Given the description of an element on the screen output the (x, y) to click on. 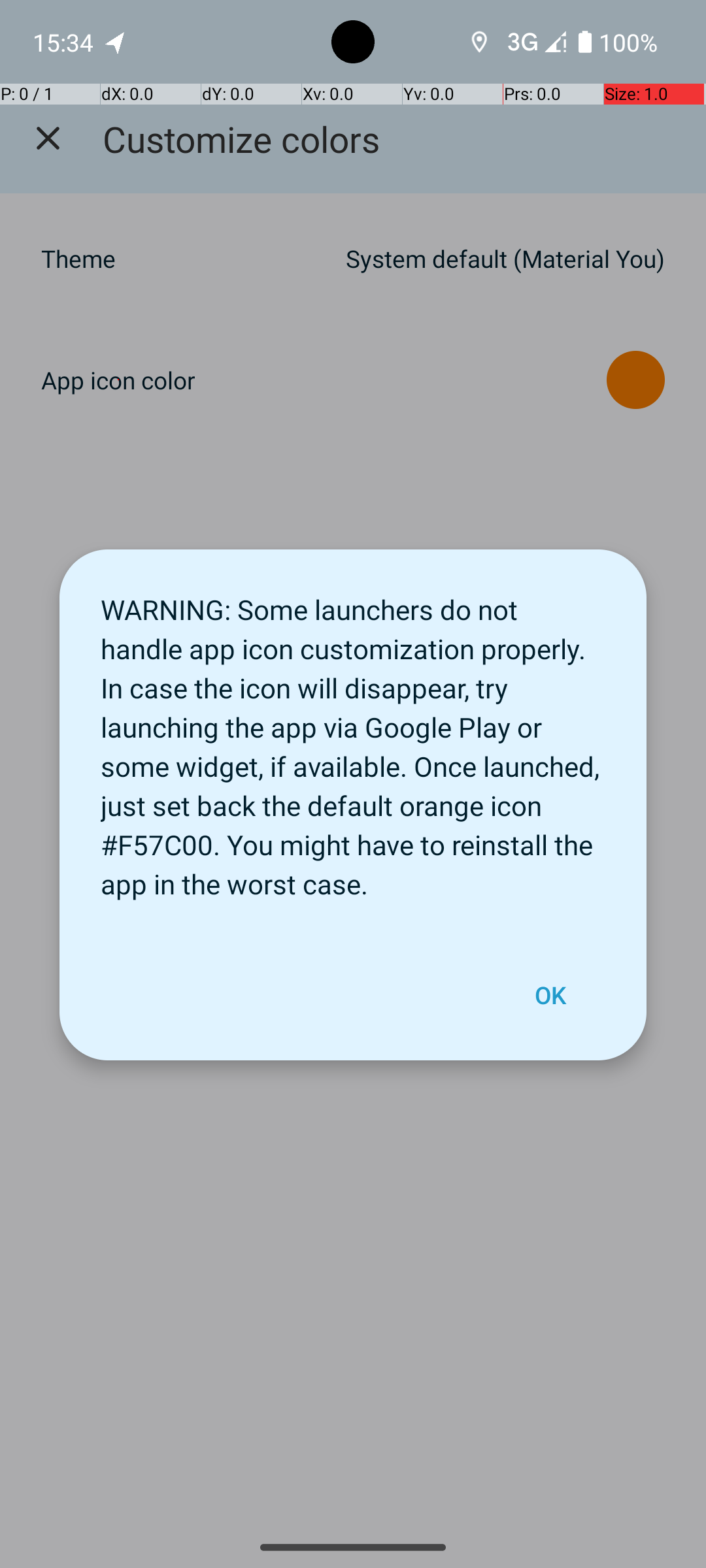
WARNING: Some launchers do not handle app icon customization properly. In case the icon will disappear, try launching the app via Google Play or some widget, if available. Once launched, just set back the default orange icon #F57C00. You might have to reinstall the app in the worst case. Element type: android.widget.TextView (352, 739)
